Given the description of an element on the screen output the (x, y) to click on. 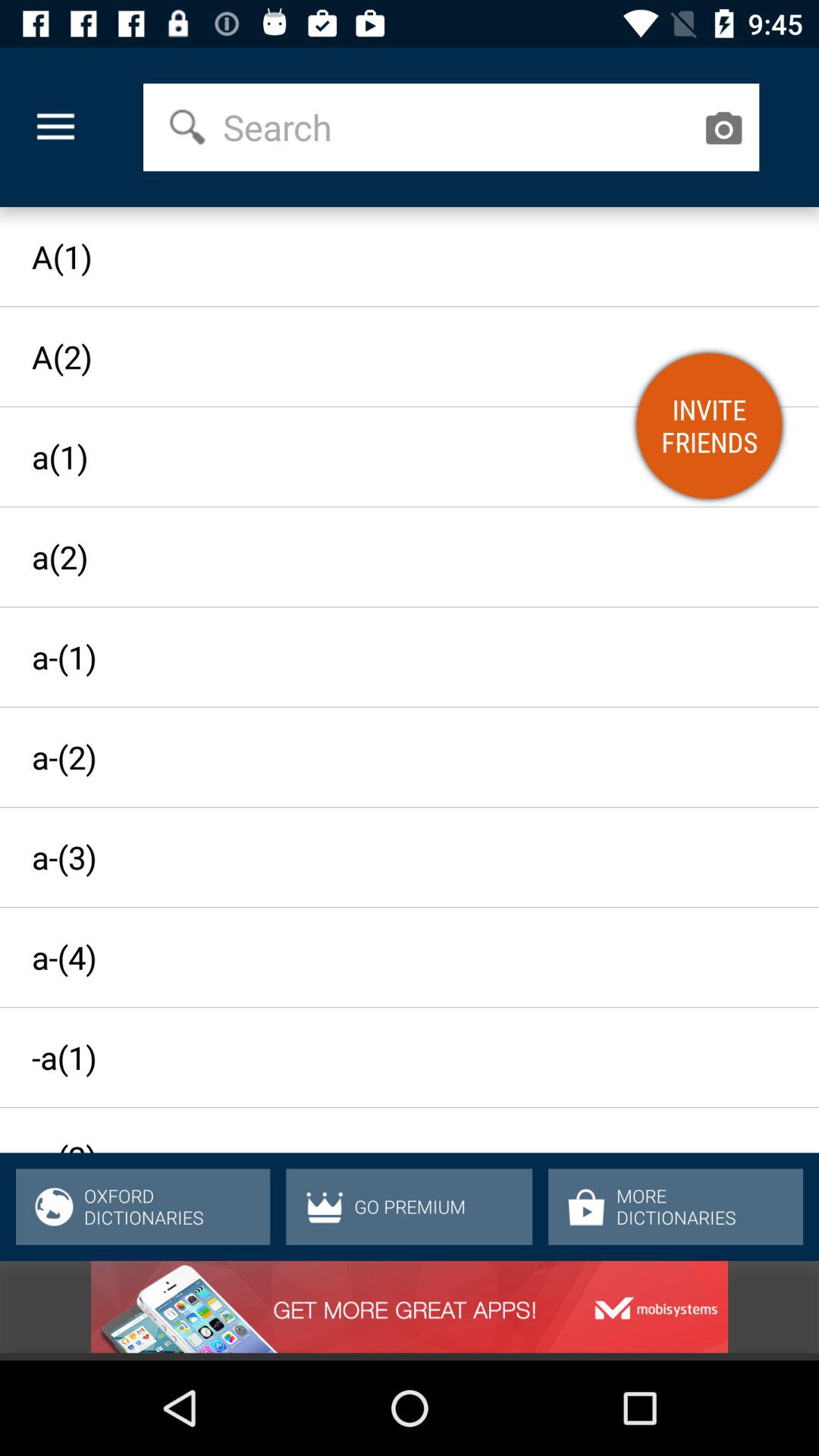
jump to the a-(3) (395, 857)
